Given the description of an element on the screen output the (x, y) to click on. 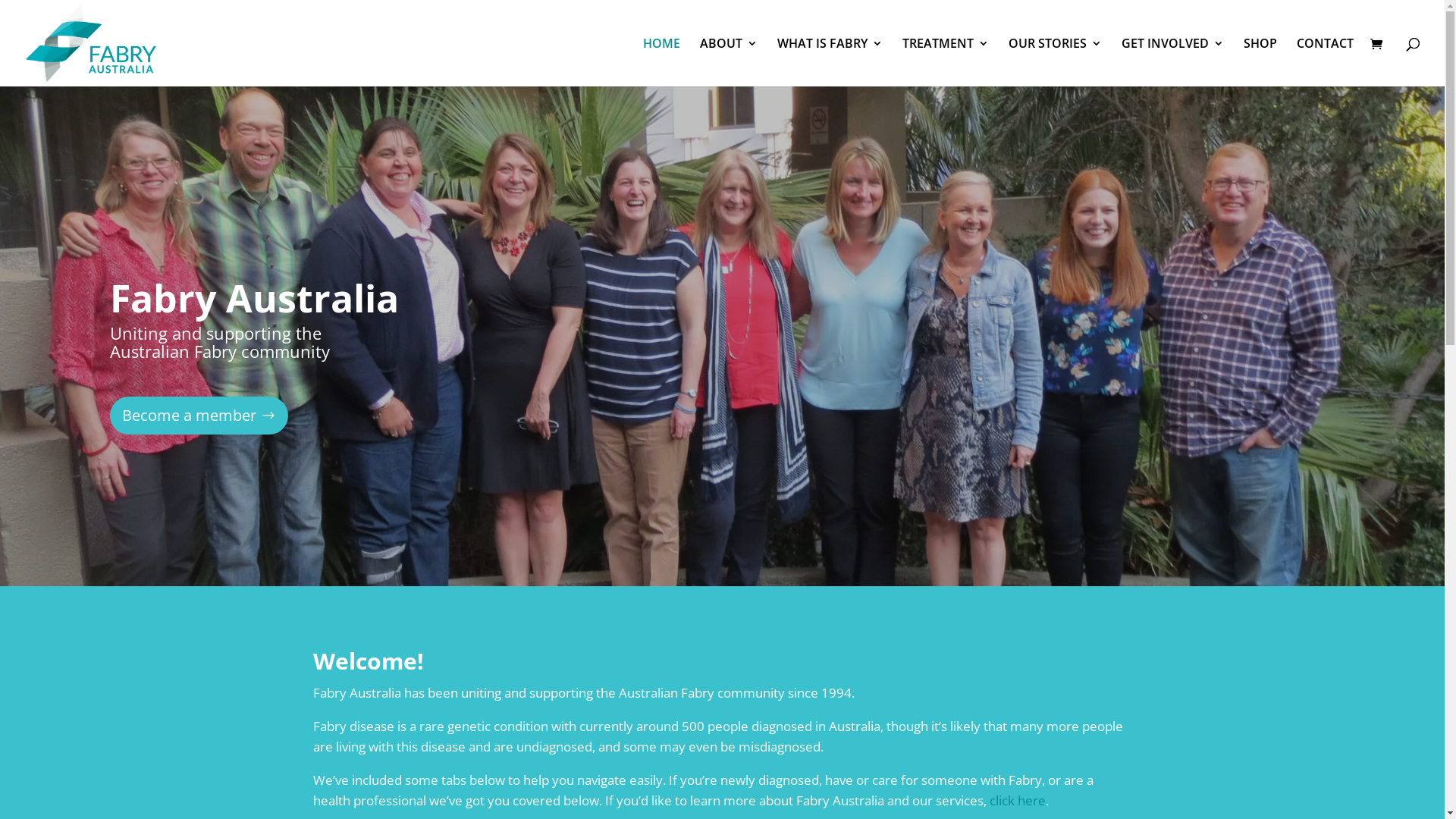
SHOP Element type: text (1260, 61)
click here Element type: text (1016, 800)
CONTACT Element type: text (1324, 61)
GET INVOLVED Element type: text (1172, 61)
WHAT IS FABRY Element type: text (829, 61)
HOME Element type: text (661, 61)
OUR STORIES Element type: text (1054, 61)
Become a member Element type: text (198, 415)
ABOUT Element type: text (728, 61)
TREATMENT Element type: text (945, 61)
